Given the description of an element on the screen output the (x, y) to click on. 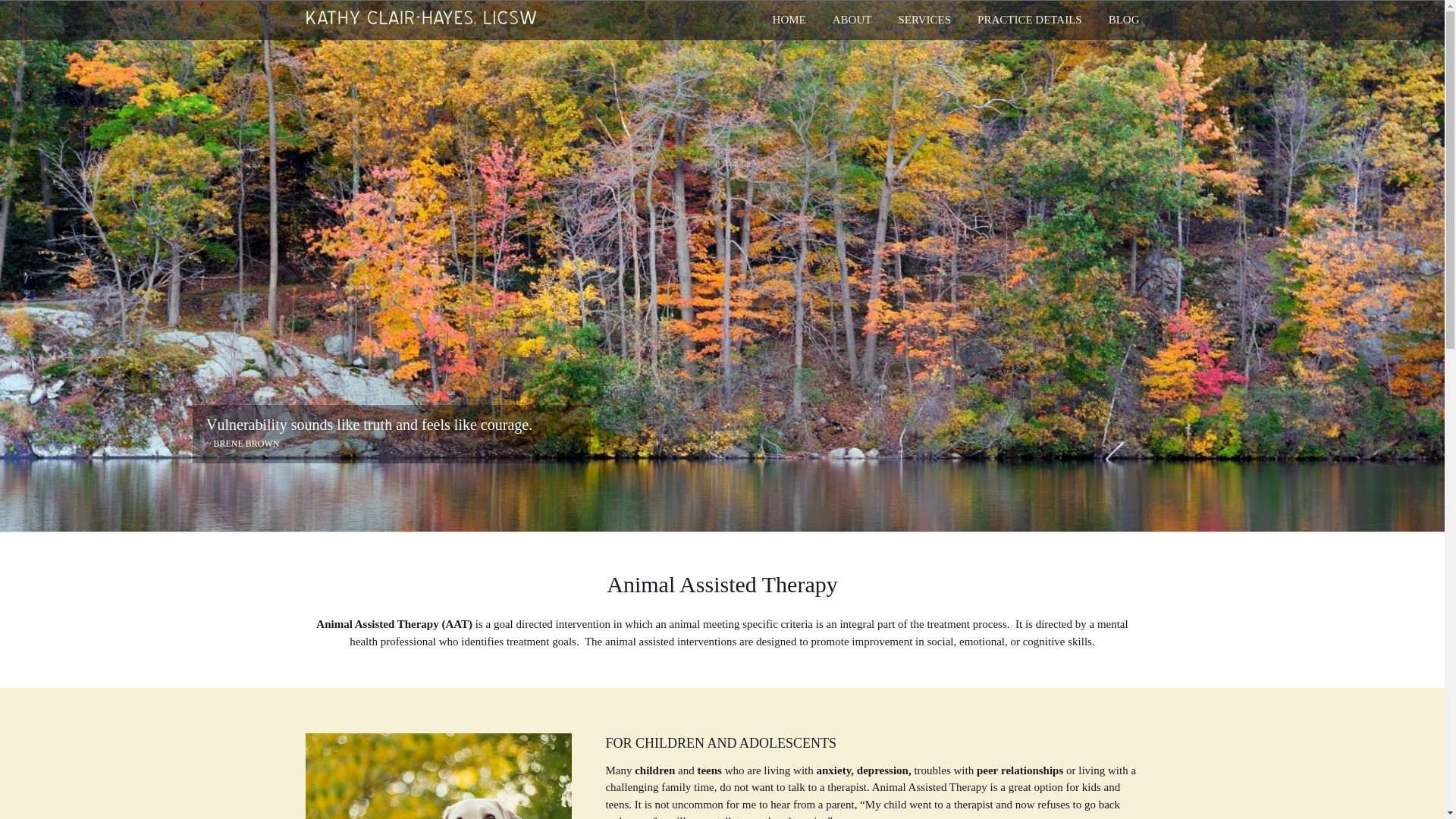
PRACTICE DETAILS (1028, 20)
ABOUT (852, 20)
BLOG (1124, 20)
SERVICES (924, 20)
HOME (789, 20)
